Given the description of an element on the screen output the (x, y) to click on. 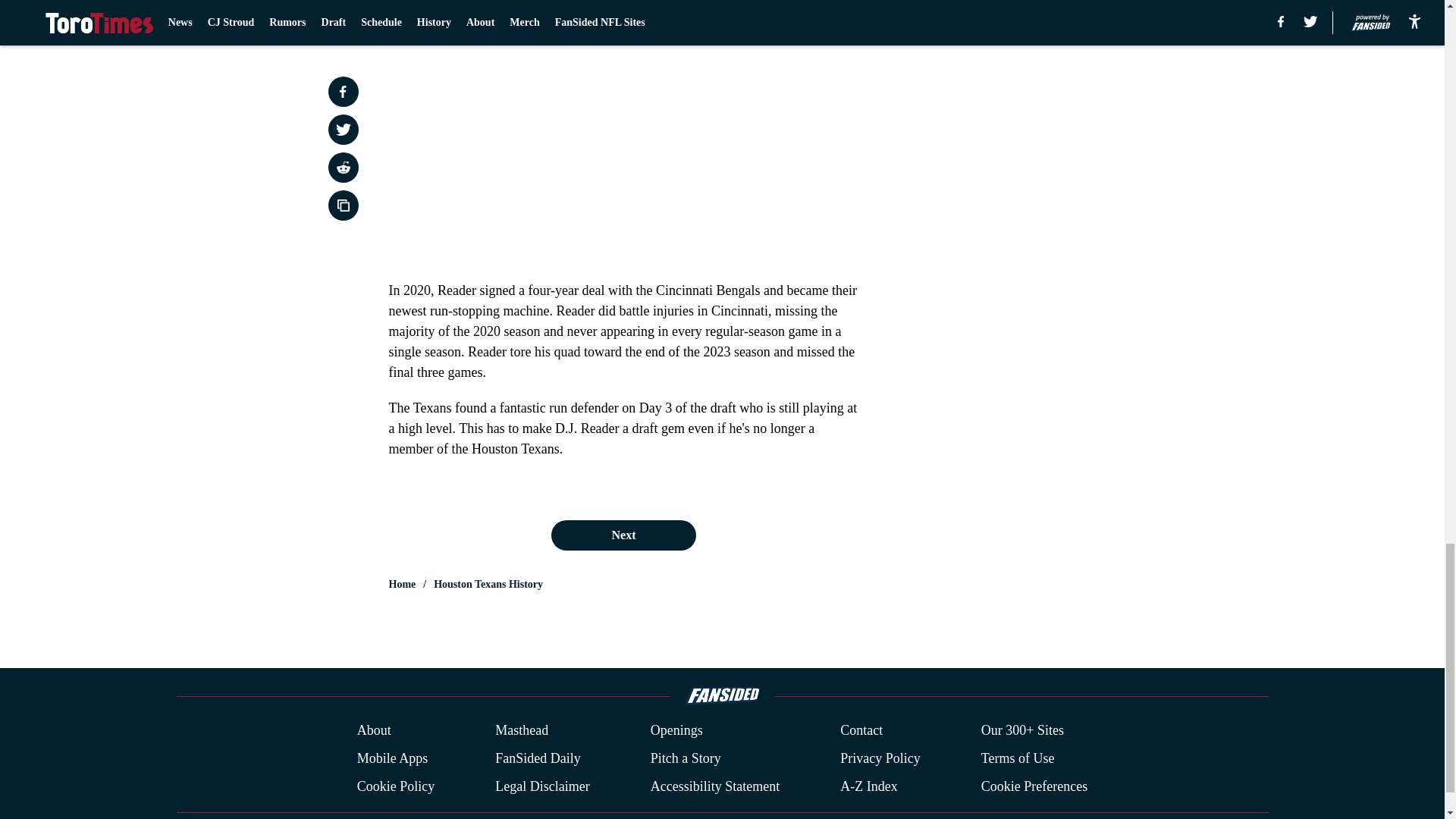
Pitch a Story (685, 758)
Houston Texans History (488, 584)
Contact (861, 730)
Next (622, 535)
Mobile Apps (392, 758)
FanSided Daily (537, 758)
Openings (676, 730)
Home (401, 584)
Masthead (521, 730)
Privacy Policy (880, 758)
About (373, 730)
